Given the description of an element on the screen output the (x, y) to click on. 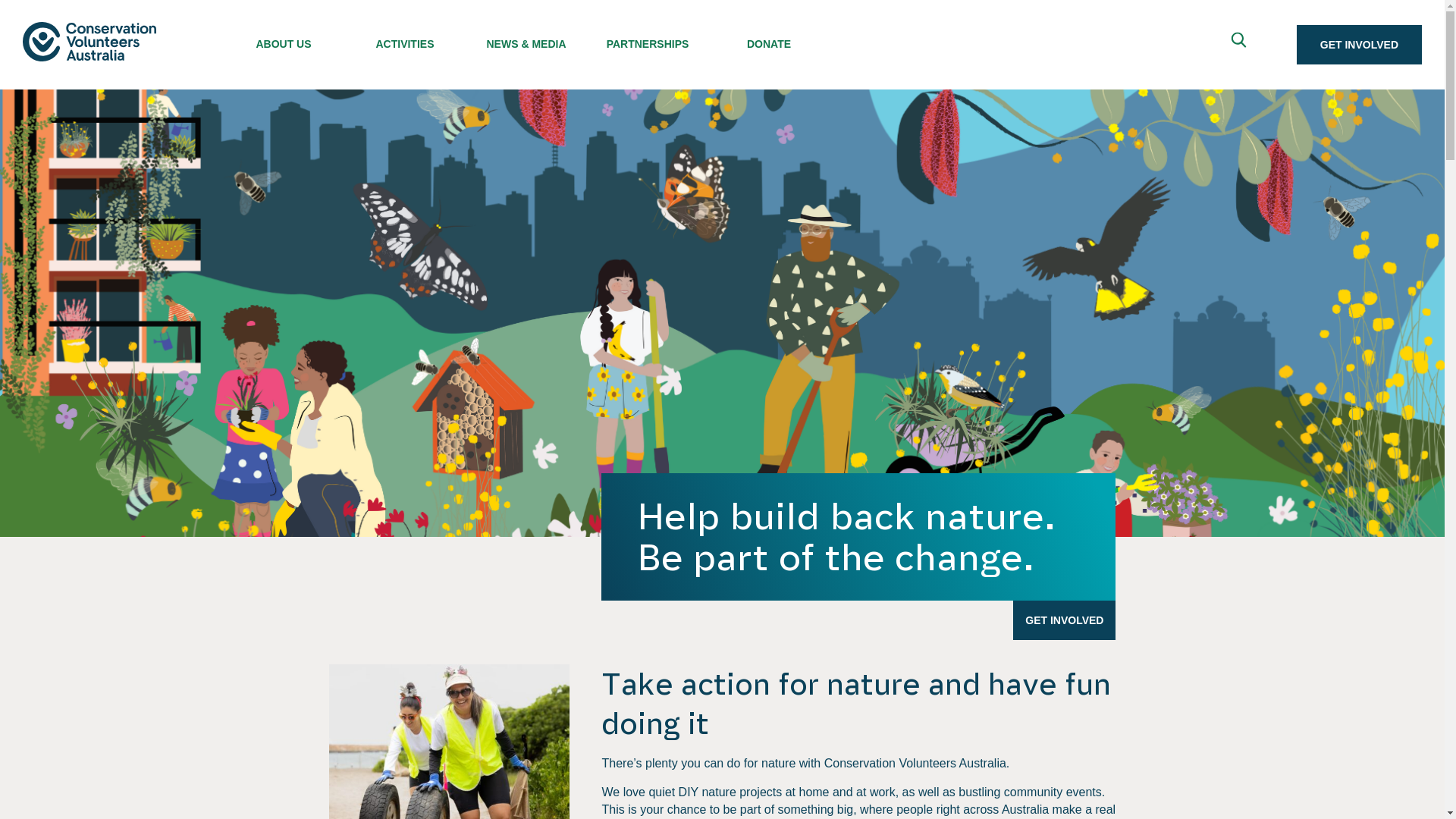
ACTIVITIES Element type: text (404, 40)
DONATE Element type: text (768, 40)
GET INVOLVED Element type: text (1064, 620)
GET INVOLVED Element type: text (1358, 44)
NEWS & MEDIA Element type: text (525, 40)
PARTNERSHIPS Element type: text (647, 40)
ABOUT US Element type: text (283, 40)
